Given the description of an element on the screen output the (x, y) to click on. 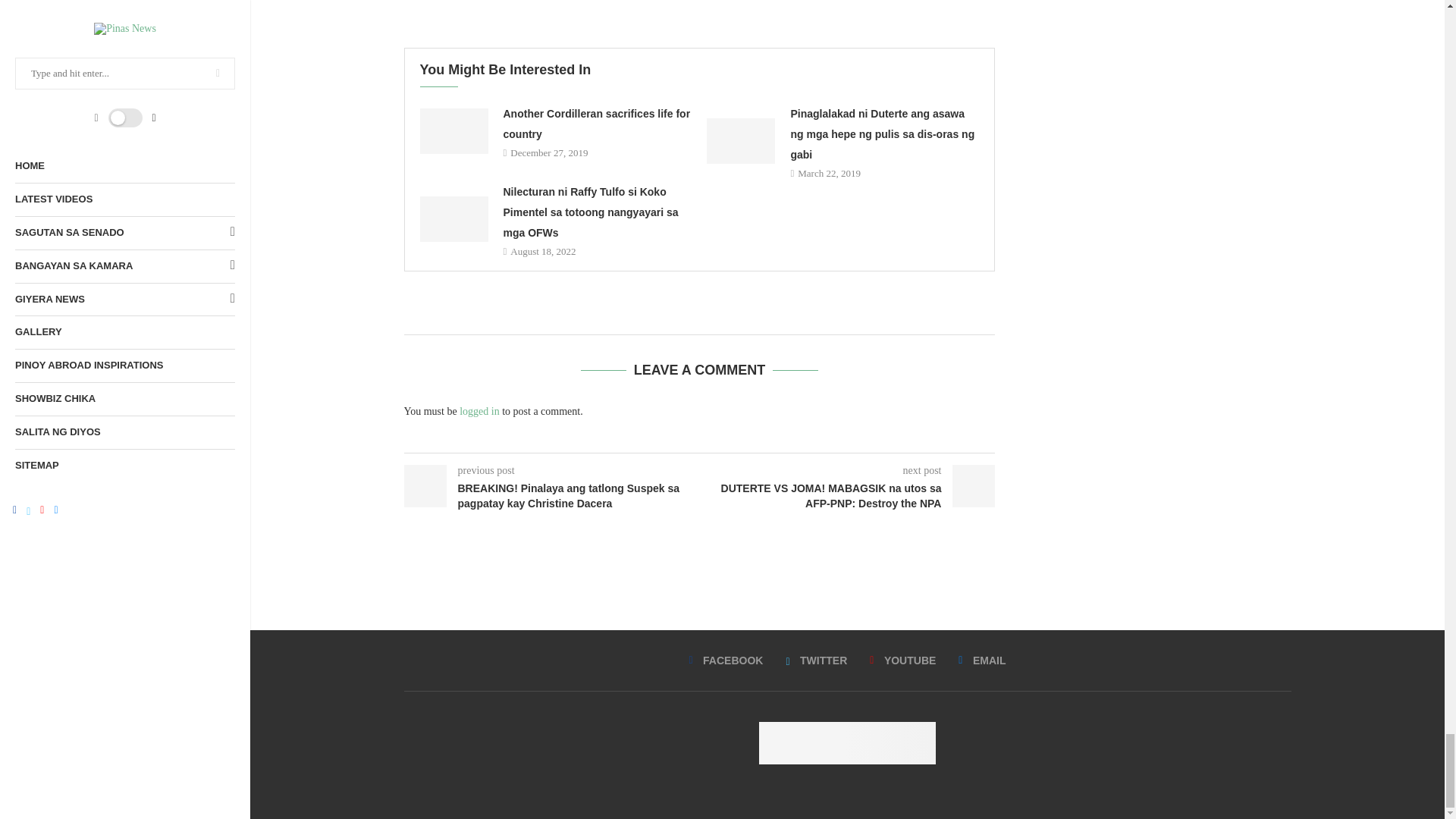
Another Cordilleran sacrifices life for country (453, 130)
